Given the description of an element on the screen output the (x, y) to click on. 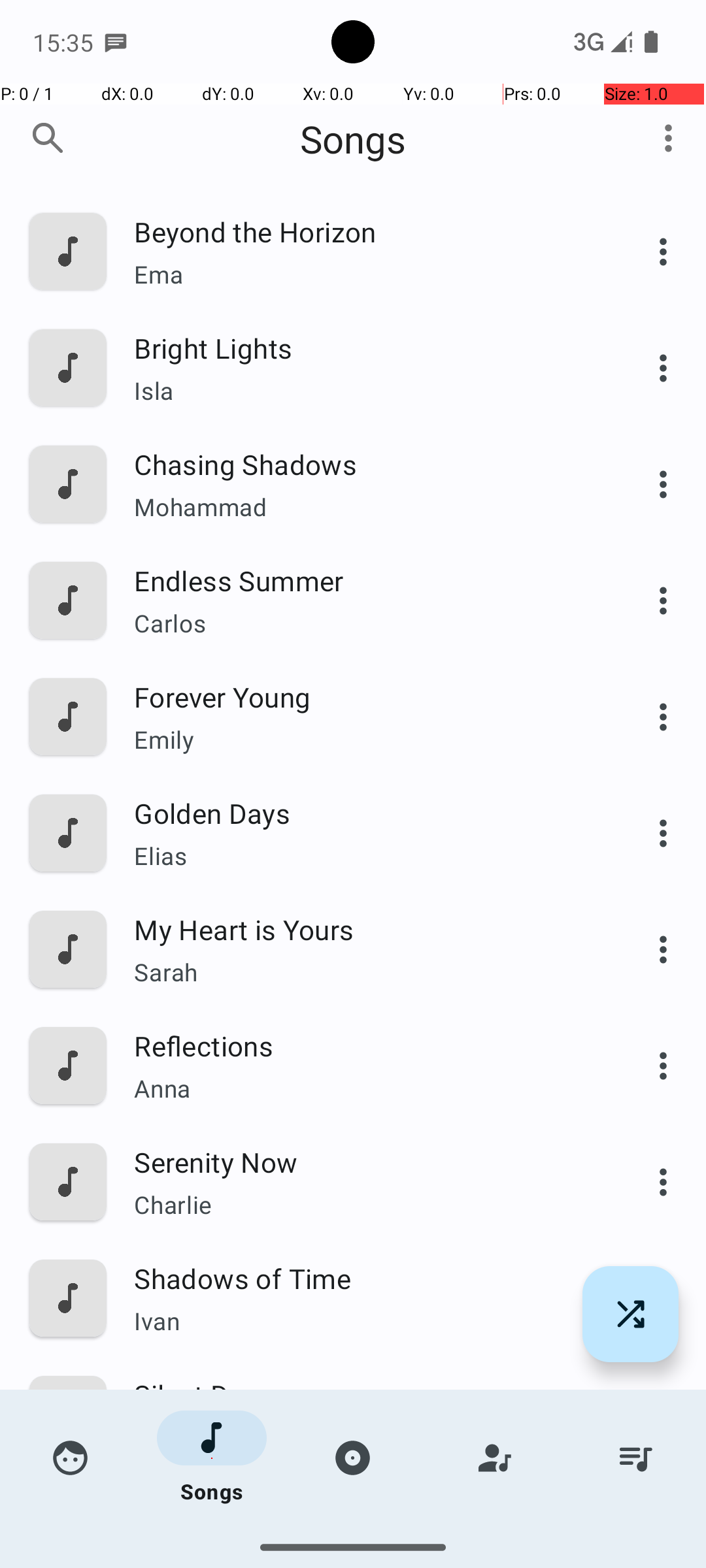
Beyond the Horizon Element type: android.widget.TextView (363, 231)
Ema Element type: android.widget.TextView (363, 273)
Bright Lights Element type: android.widget.TextView (363, 347)
Isla Element type: android.widget.TextView (363, 390)
Chasing Shadows Element type: android.widget.TextView (363, 463)
Mohammad Element type: android.widget.TextView (363, 506)
Endless Summer Element type: android.widget.TextView (363, 580)
Carlos Element type: android.widget.TextView (363, 622)
Forever Young Element type: android.widget.TextView (363, 696)
Emily Element type: android.widget.TextView (363, 738)
Golden Days Element type: android.widget.TextView (363, 812)
Elias Element type: android.widget.TextView (363, 855)
My Heart is Yours Element type: android.widget.TextView (363, 928)
Sarah Element type: android.widget.TextView (363, 971)
Reflections Element type: android.widget.TextView (363, 1045)
Anna Element type: android.widget.TextView (363, 1087)
Serenity Now Element type: android.widget.TextView (363, 1161)
Charlie Element type: android.widget.TextView (363, 1204)
Shadows of Time Element type: android.widget.TextView (363, 1277)
Ivan Element type: android.widget.TextView (363, 1320)
Silent Dreams Element type: android.widget.TextView (363, 1394)
Arthur Element type: android.widget.TextView (363, 1436)
Twilight Calling Element type: android.widget.TextView (363, 1510)
Olivia Element type: android.widget.TextView (363, 1538)
15:36 Element type: android.widget.TextView (64, 41)
